Given the description of an element on the screen output the (x, y) to click on. 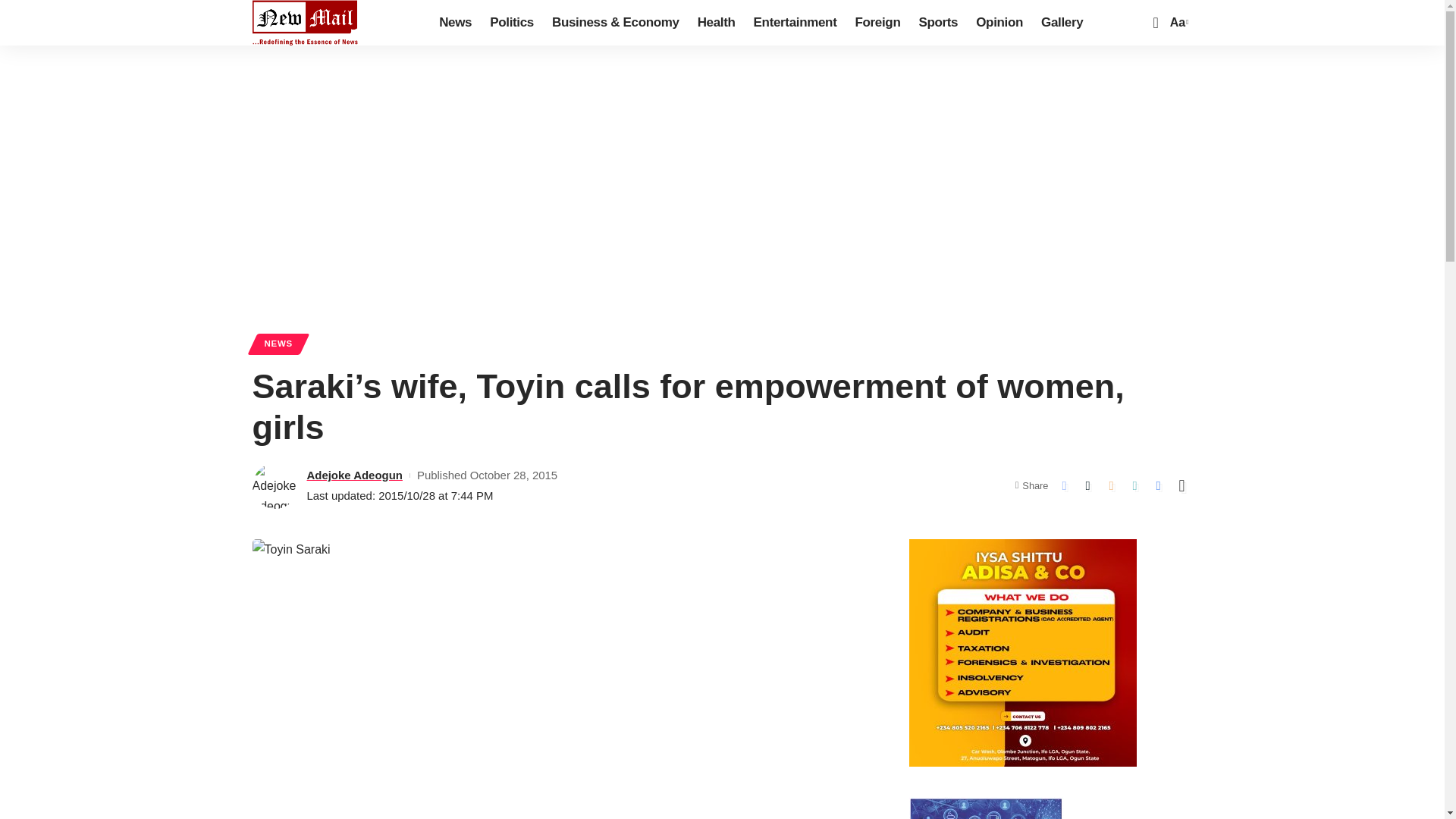
Health (716, 22)
Opinion (999, 22)
Politics (511, 22)
News (454, 22)
Sports (937, 22)
Aa (1177, 22)
Entertainment (794, 22)
Gallery (1062, 22)
New Mail Nigeria (304, 22)
